Given the description of an element on the screen output the (x, y) to click on. 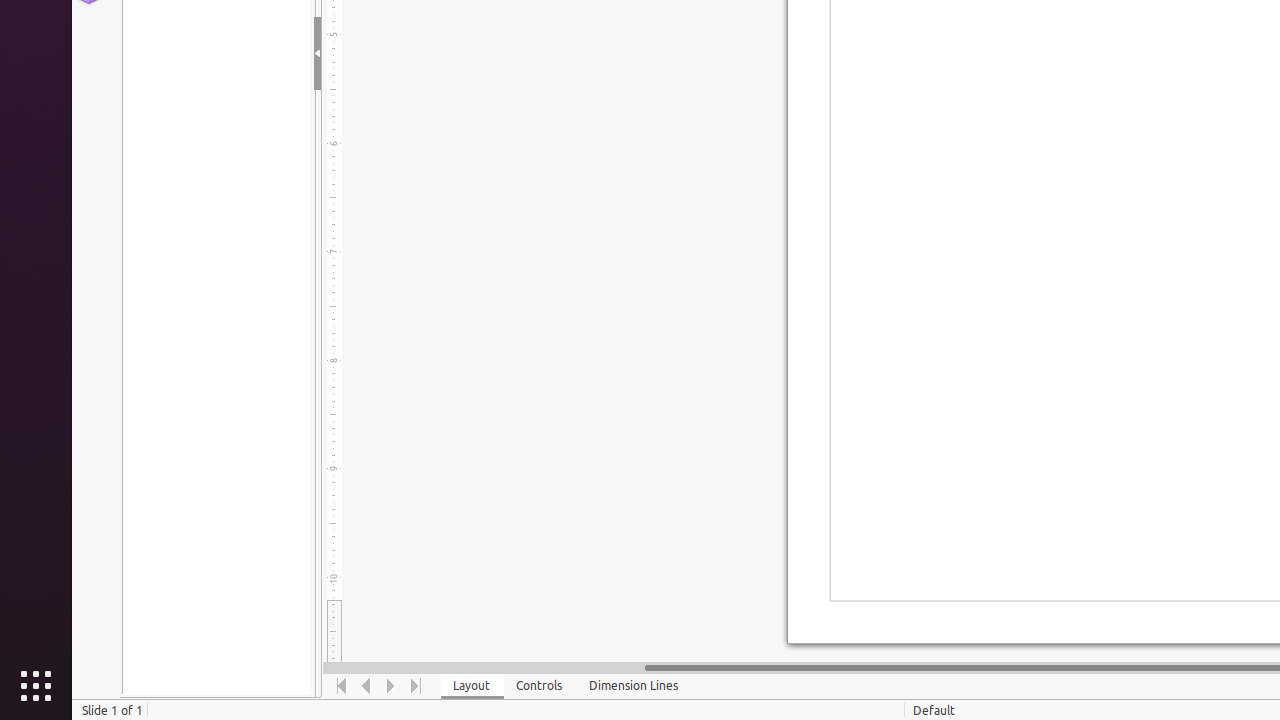
Show Applications Element type: toggle-button (36, 686)
Move To End Element type: push-button (416, 686)
Dimension Lines Element type: page-tab (634, 686)
Layout Element type: page-tab (472, 686)
Move To Home Element type: push-button (341, 686)
